Given the description of an element on the screen output the (x, y) to click on. 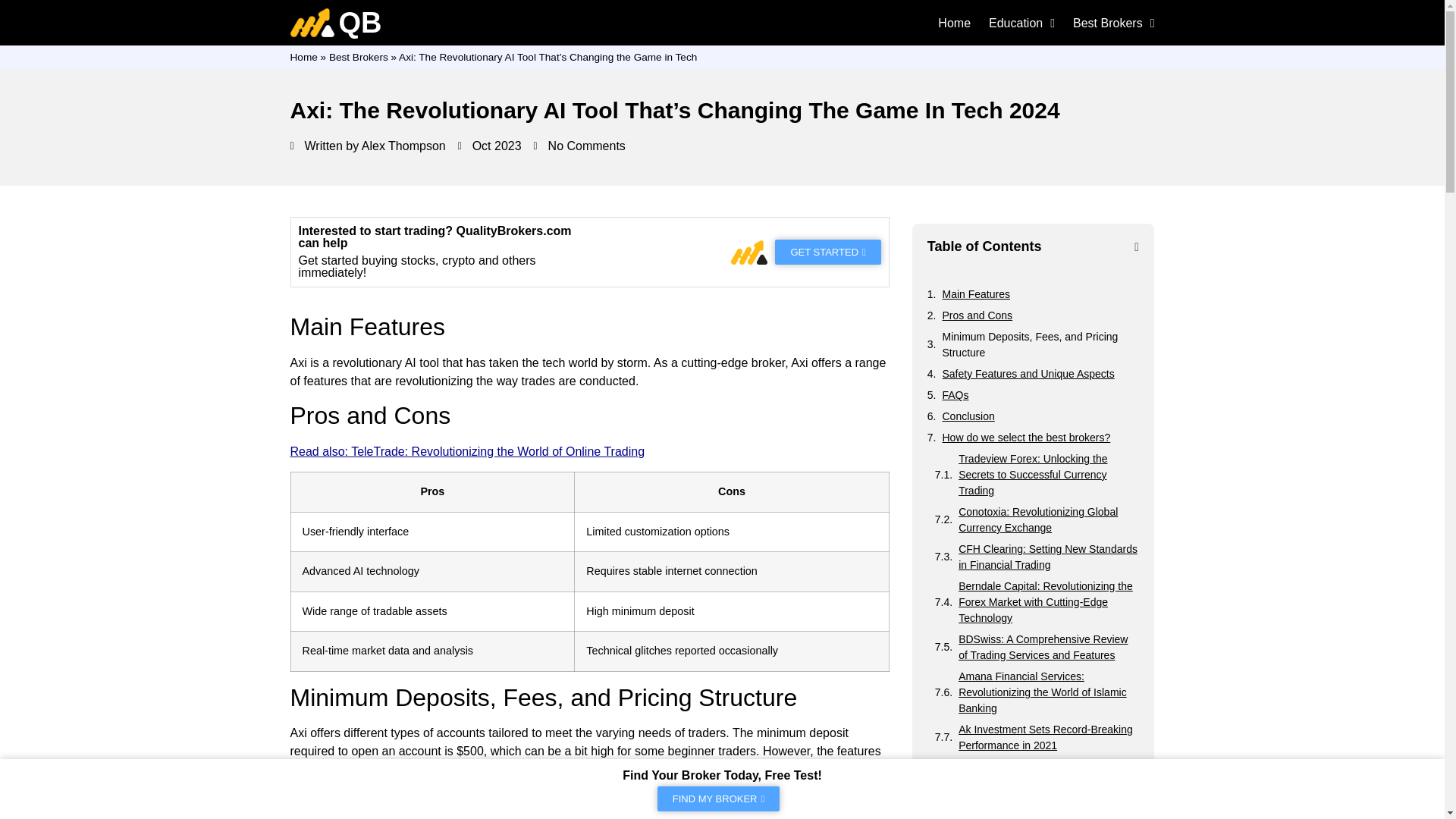
GET STARTED (827, 251)
Main Features (975, 294)
Minimum Deposits, Fees, and Pricing Structure (1040, 345)
Safety Features and Unique Aspects (1027, 374)
Best Brokers (358, 57)
Home (303, 57)
TeleTrade: Revolutionizing the World of Online Trading (497, 451)
Best Brokers (1113, 23)
FAQs (955, 395)
No Comments (580, 146)
Oct 2023 (489, 146)
Pros and Cons (976, 315)
Home (954, 23)
Education (1021, 23)
